Given the description of an element on the screen output the (x, y) to click on. 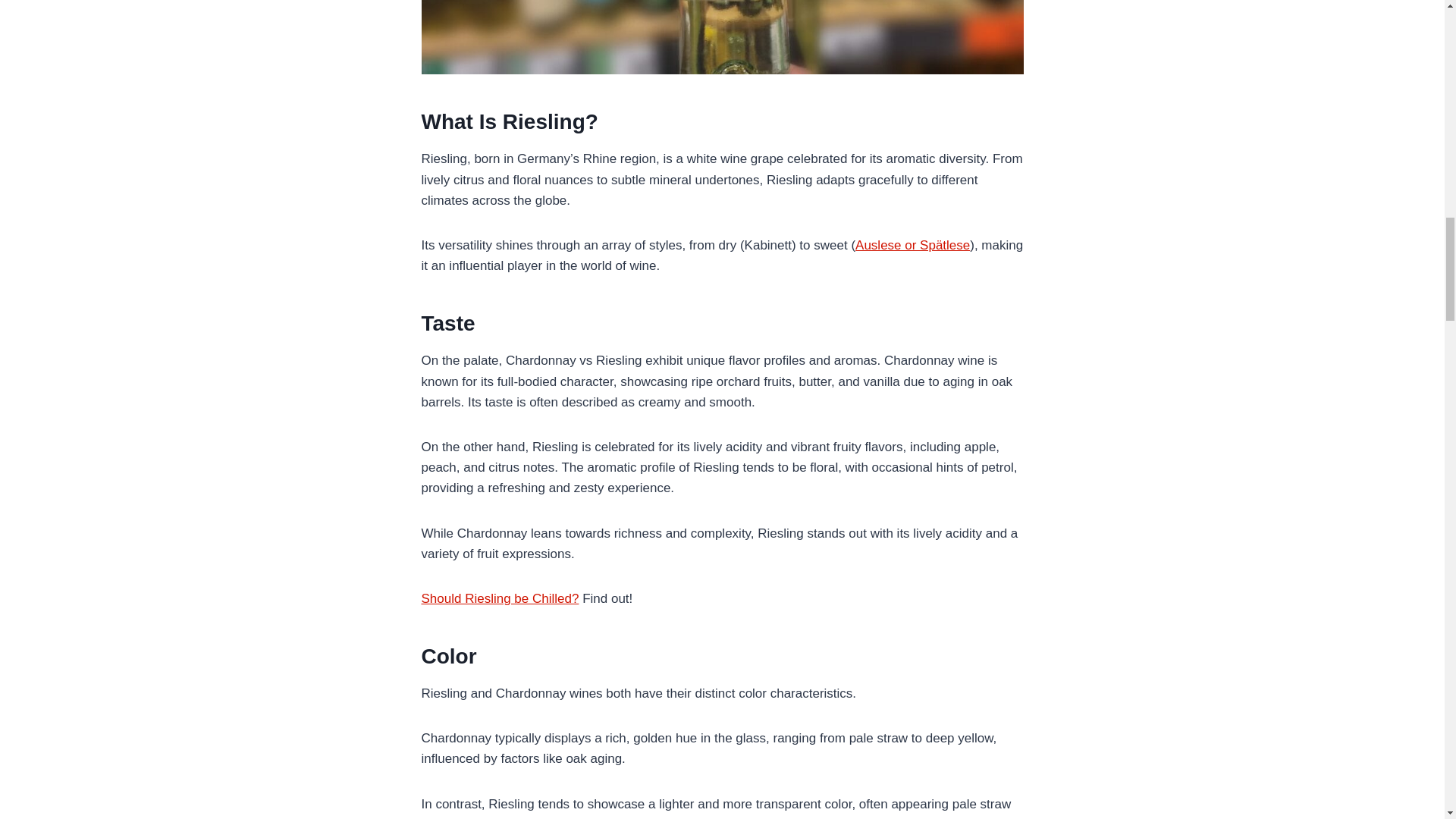
Should Riesling be Chilled? (500, 598)
